Given the description of an element on the screen output the (x, y) to click on. 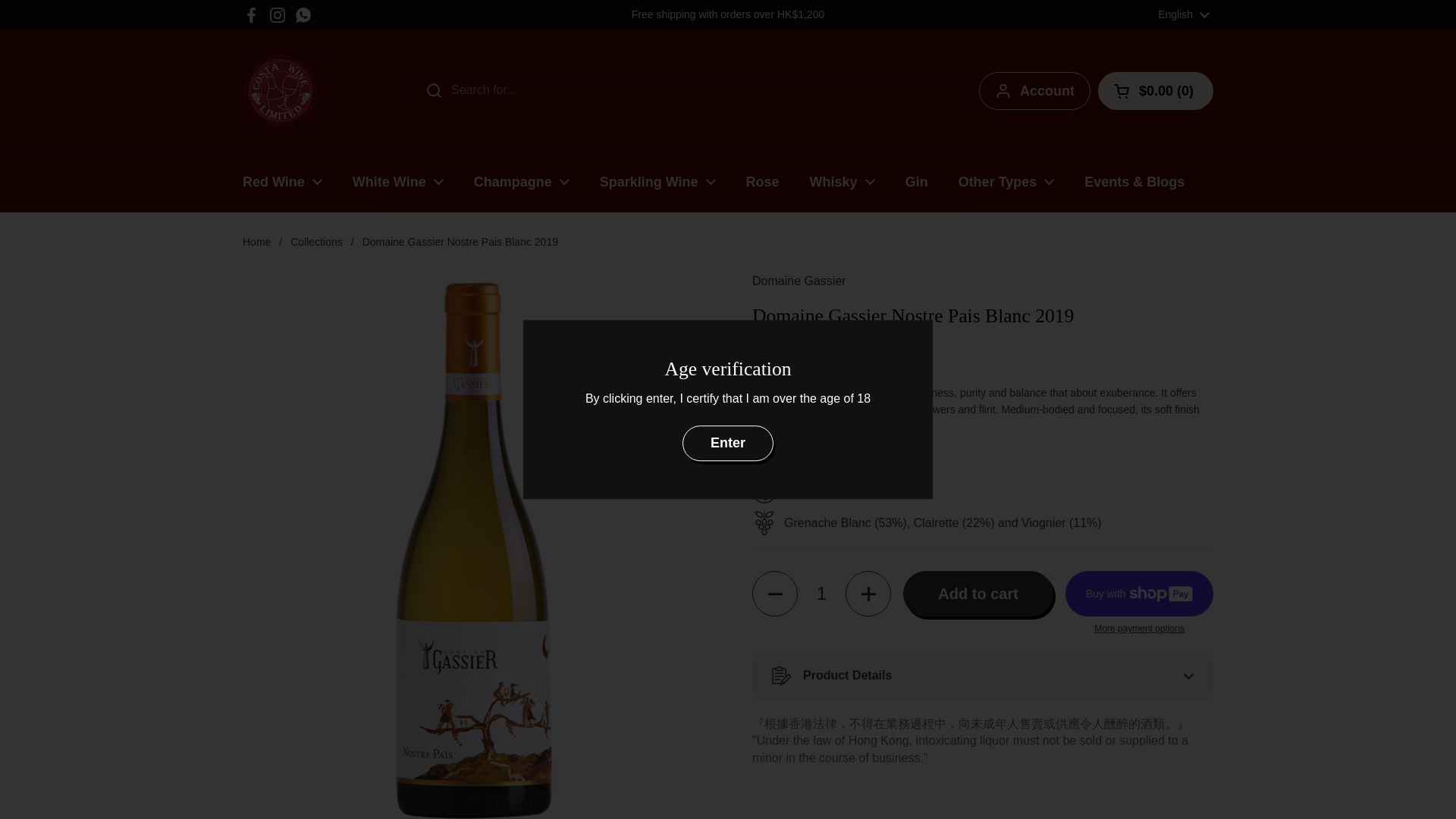
Red Wine (282, 181)
Instagram (276, 14)
Account (1034, 90)
1 (821, 593)
Costa Wine Limited (280, 90)
White Wine (397, 181)
Open cart (1154, 90)
Facebook (251, 14)
WhatsApp (303, 14)
Red Wine (282, 181)
English (1183, 14)
